Given the description of an element on the screen output the (x, y) to click on. 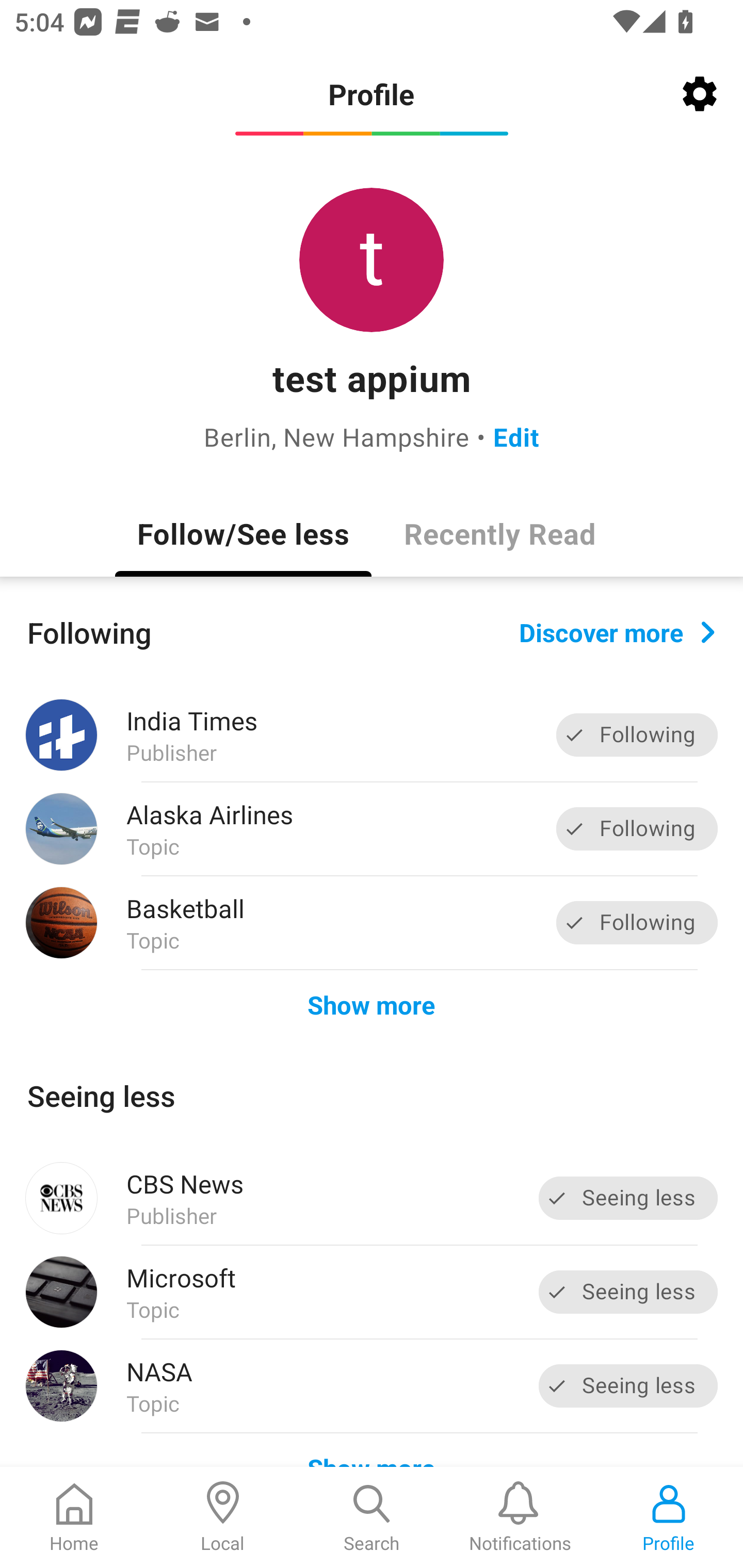
Settings (699, 93)
Edit (516, 436)
Recently Read (499, 533)
Discover more (617, 631)
India Times Publisher Following (371, 735)
Following (636, 735)
Alaska Airlines Topic Following (371, 829)
Following (636, 828)
Basketball Topic Following (371, 922)
Following (636, 922)
Show more (371, 1004)
CBS News Publisher Seeing less (371, 1197)
Seeing less (627, 1197)
Microsoft Topic Seeing less (371, 1291)
Seeing less (627, 1291)
NASA Topic Seeing less (371, 1386)
Seeing less (627, 1386)
Home (74, 1517)
Local (222, 1517)
Search (371, 1517)
Notifications (519, 1517)
